Given the description of an element on the screen output the (x, y) to click on. 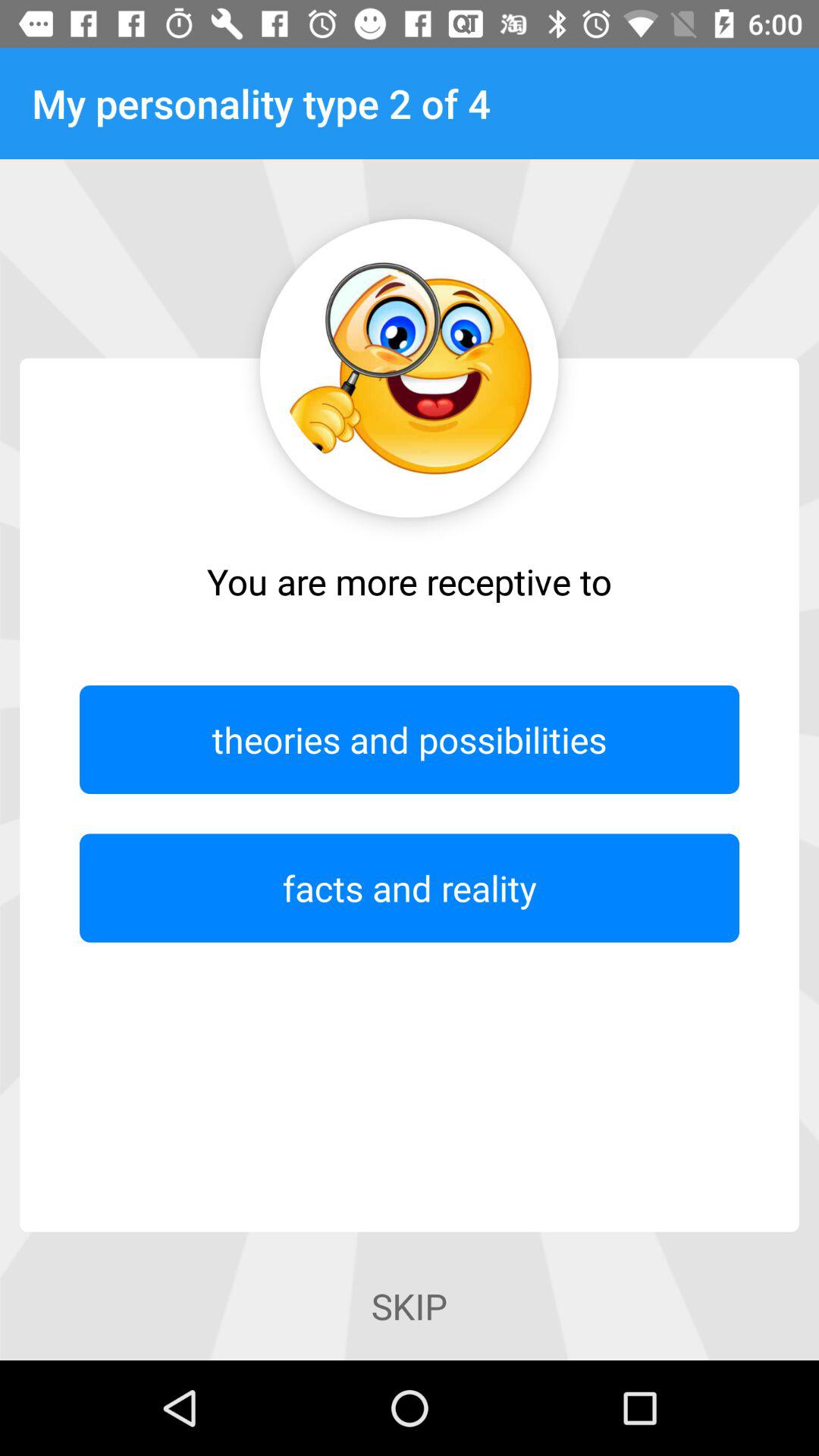
scroll until theories and possibilities item (409, 739)
